Given the description of an element on the screen output the (x, y) to click on. 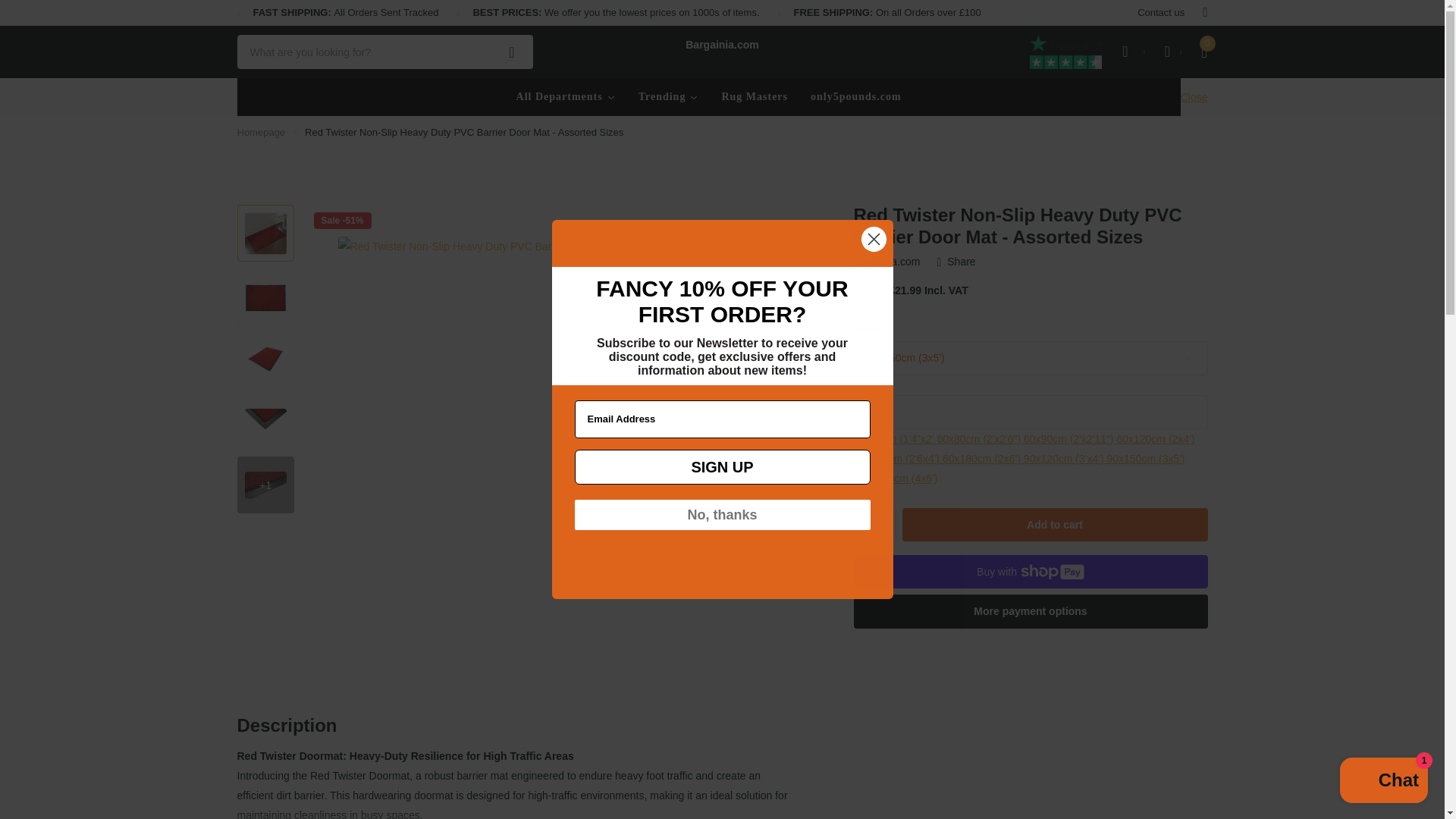
Trending (668, 96)
only5pounds.com (855, 96)
Zoeken (512, 51)
Home (260, 132)
Contact us (1161, 12)
All Departments  (566, 96)
All Departments (566, 96)
Shopify online store chat (1383, 781)
Rug Masters (754, 96)
Trending (668, 96)
1 (874, 524)
Rug Masters (754, 96)
only5pounds.com (855, 96)
